Given the description of an element on the screen output the (x, y) to click on. 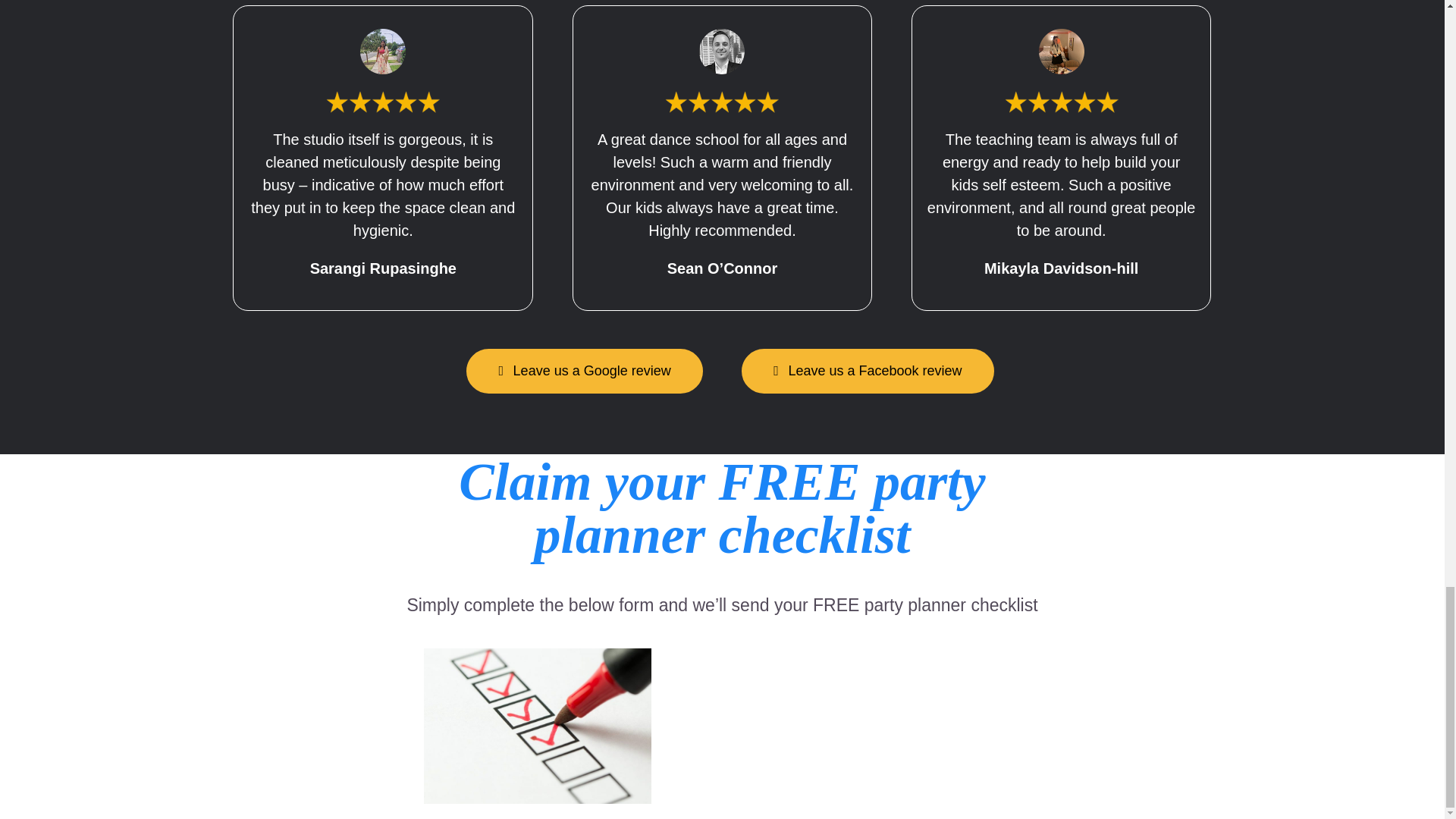
Mikayla (1061, 51)
5-stars (382, 101)
5-stars (721, 101)
Sarangi (382, 51)
Leave us a Google review (583, 370)
Leave us a Facebook review (866, 370)
Sean (721, 51)
5-stars (1061, 101)
